Given the description of an element on the screen output the (x, y) to click on. 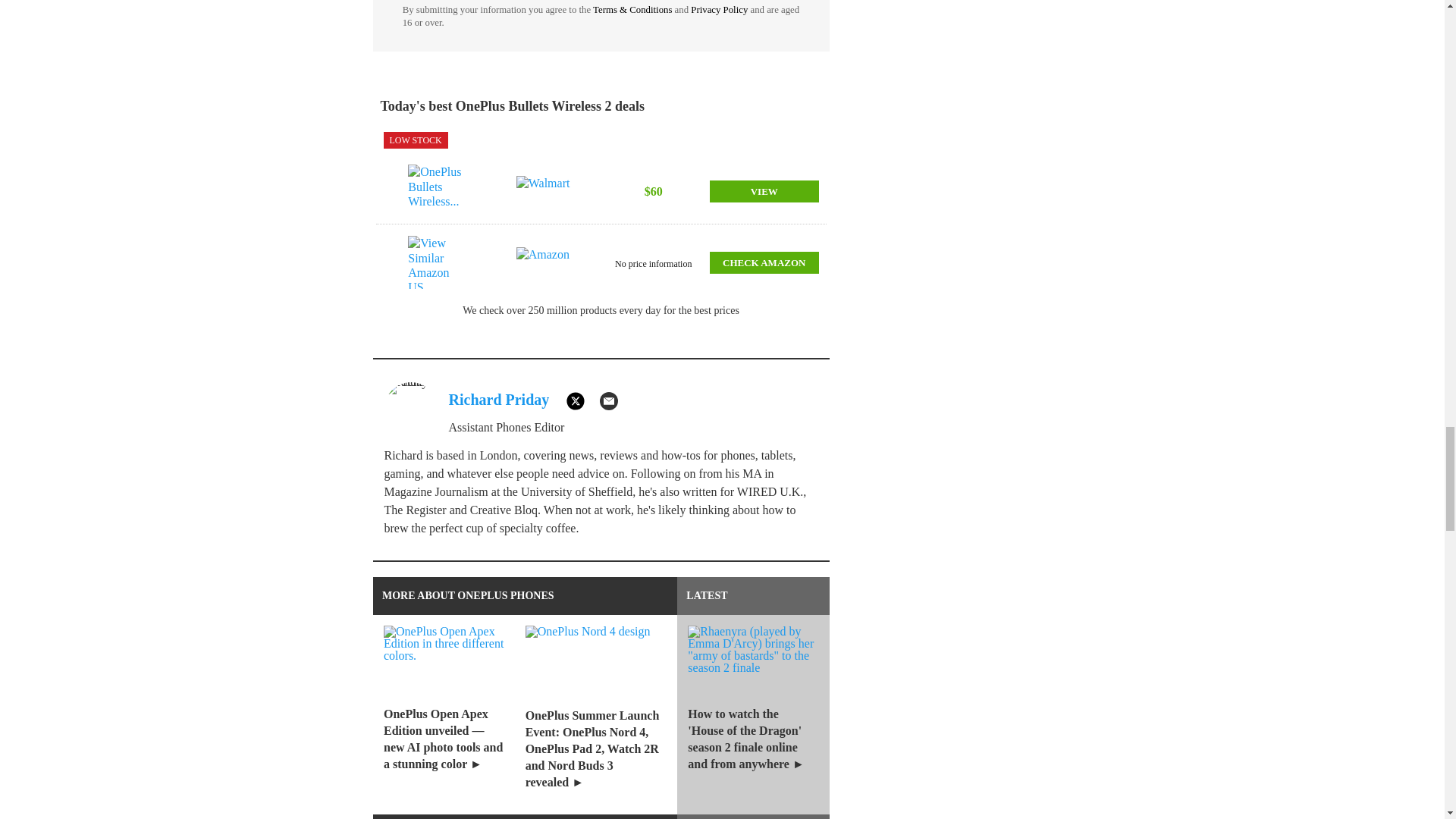
Low Stock (416, 139)
Walmart (546, 191)
Amazon (546, 262)
OnePlus Bullets Wireless... (437, 190)
View Similar Amazon US (437, 262)
